Given the description of an element on the screen output the (x, y) to click on. 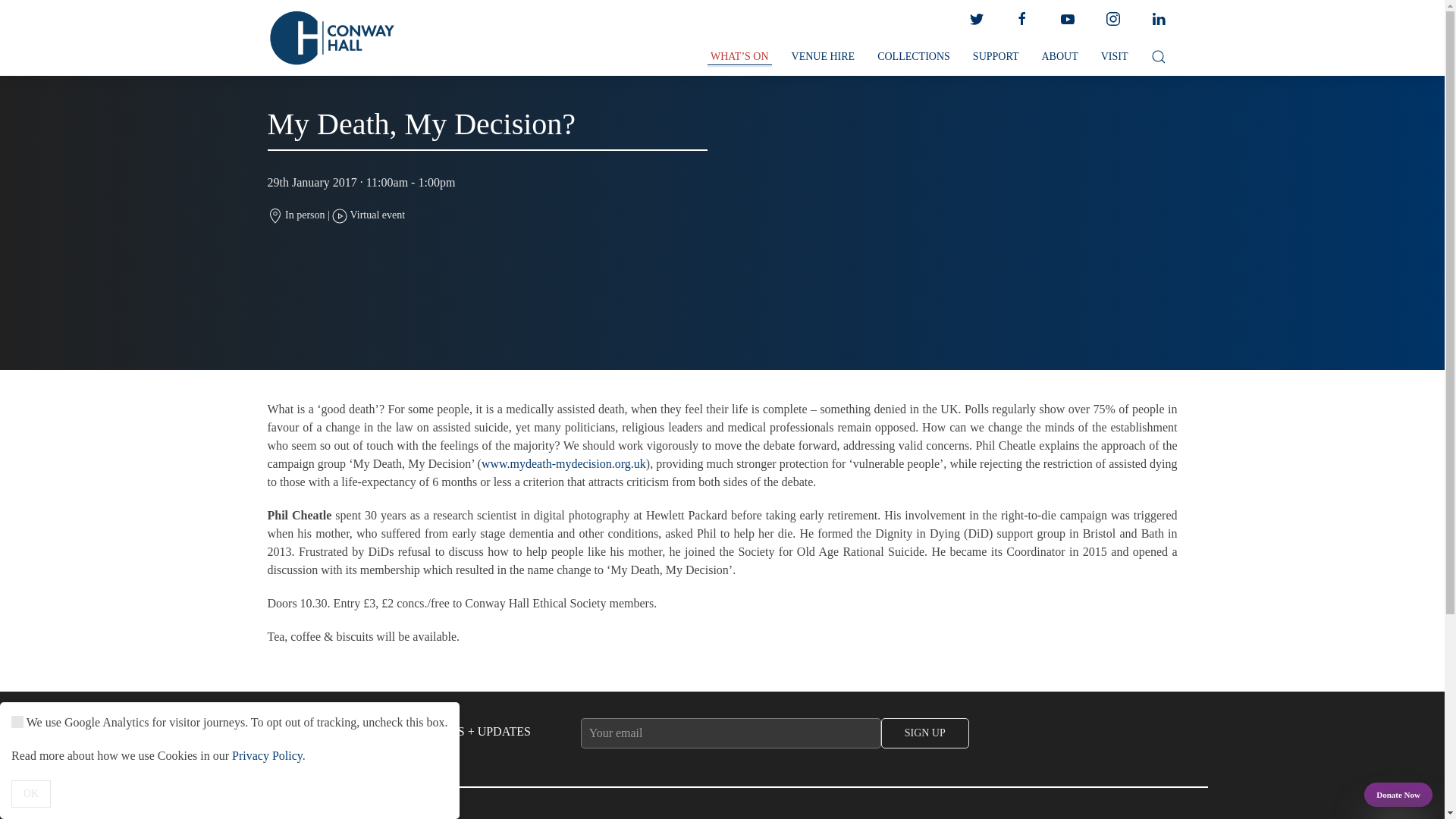
Twitter (975, 19)
SUPPORT (995, 56)
LinkedIn (1157, 19)
Conway Hall (331, 38)
YouTube (1067, 19)
OK (30, 793)
instagram (1112, 19)
COLLECTIONS (913, 56)
ABOUT (1059, 56)
Privacy Policy (266, 755)
www.mydeath-mydecision.org.uk (563, 463)
Facebook (1022, 19)
VENUE HIRE (823, 56)
Sign Up (924, 733)
on (17, 721)
